Given the description of an element on the screen output the (x, y) to click on. 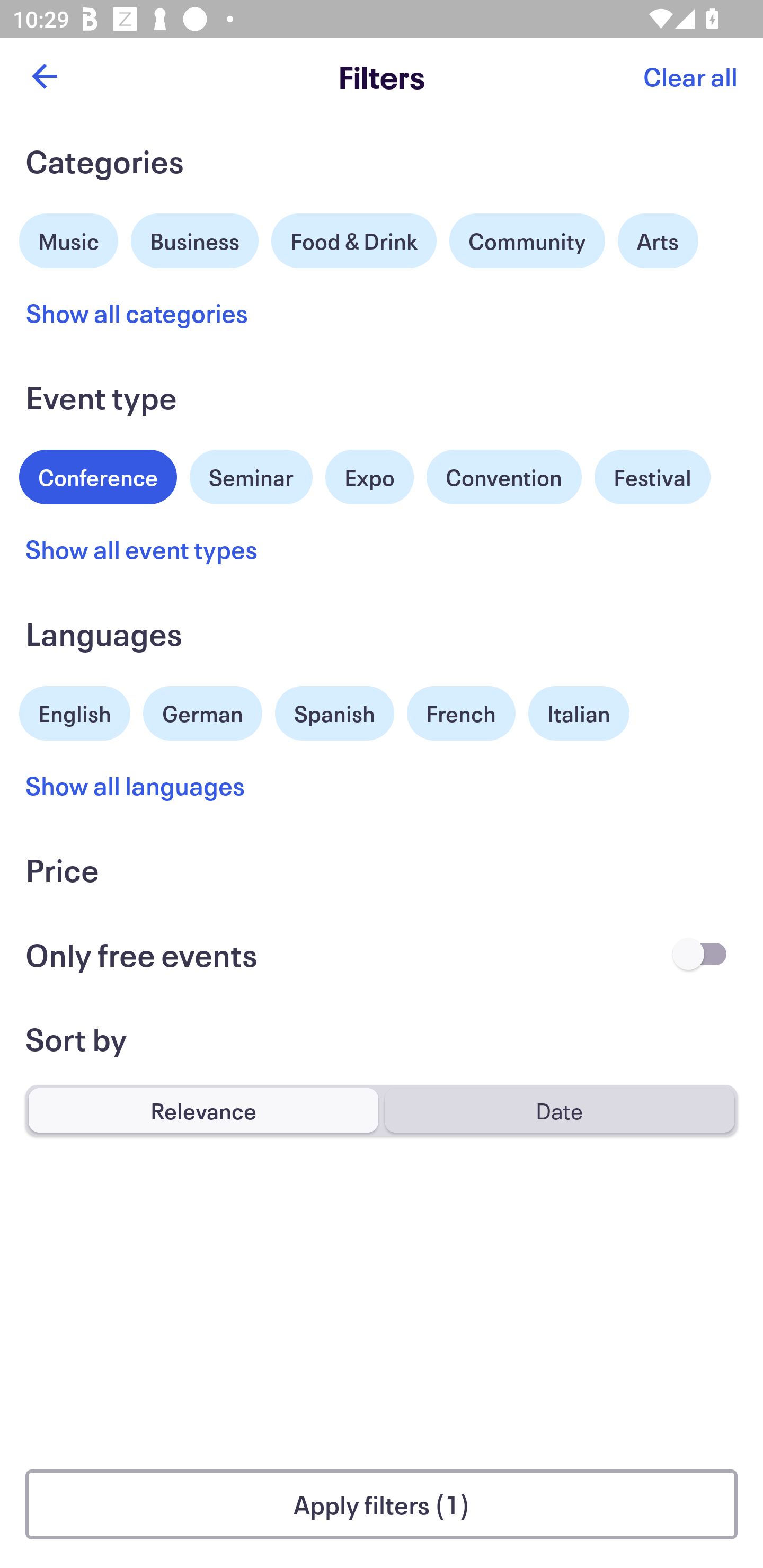
Back button (44, 75)
Clear all (690, 75)
Music (68, 238)
Business (194, 238)
Food & Drink (353, 240)
Community (527, 240)
Arts (658, 240)
Show all categories (136, 312)
Conference (98, 475)
Seminar (250, 477)
Expo (369, 477)
Convention (503, 477)
Festival (652, 477)
Show all event types (141, 548)
English (74, 710)
German (202, 710)
Spanish (334, 713)
French (460, 713)
Italian (578, 713)
Show all languages (135, 784)
Relevance (203, 1109)
Date (559, 1109)
Apply filters (1) (381, 1504)
